Given the description of an element on the screen output the (x, y) to click on. 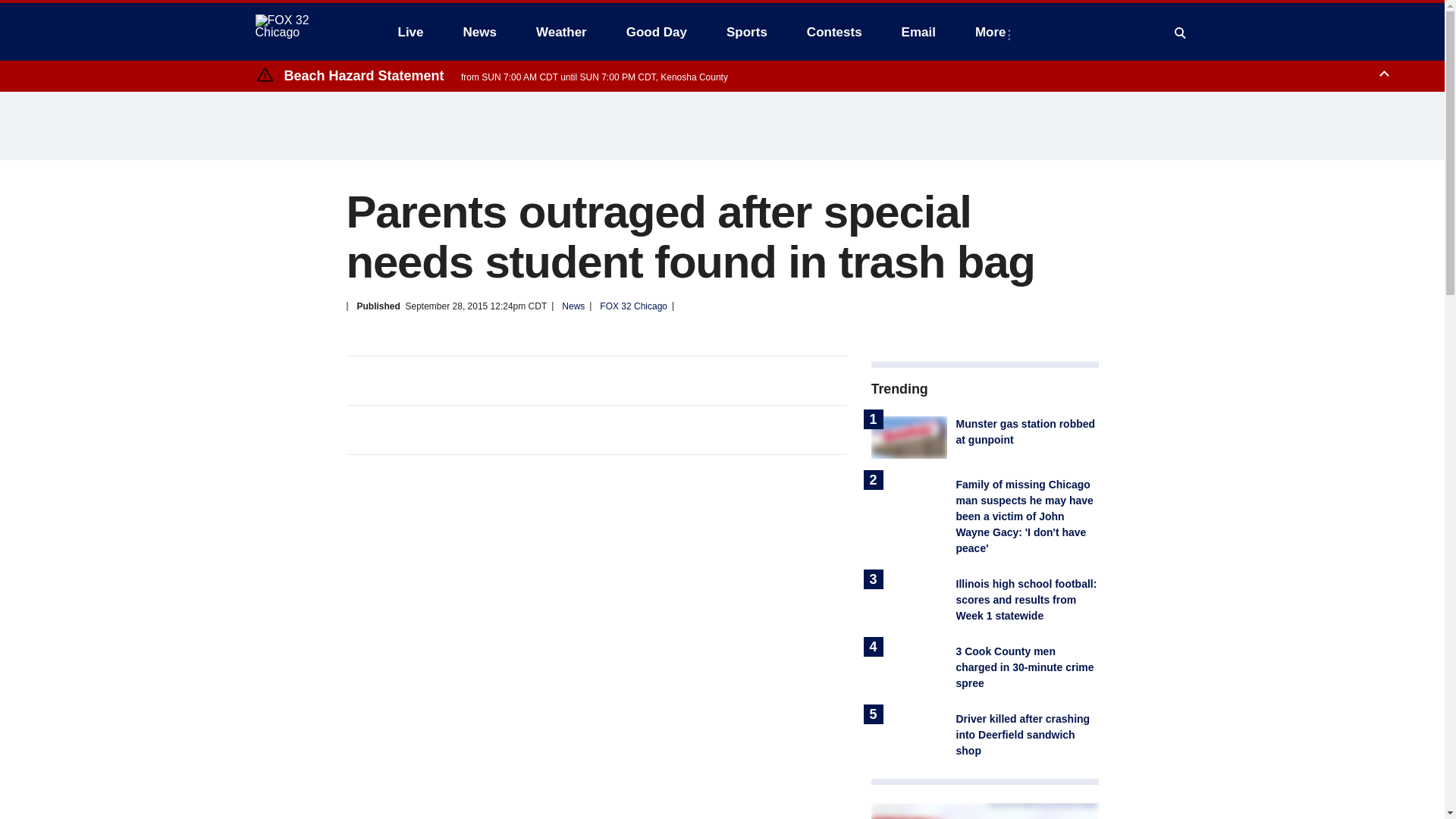
Live (410, 32)
Good Day (656, 32)
Contests (834, 32)
Weather (561, 32)
Sports (746, 32)
Email (918, 32)
More (993, 32)
News (479, 32)
